Given the description of an element on the screen output the (x, y) to click on. 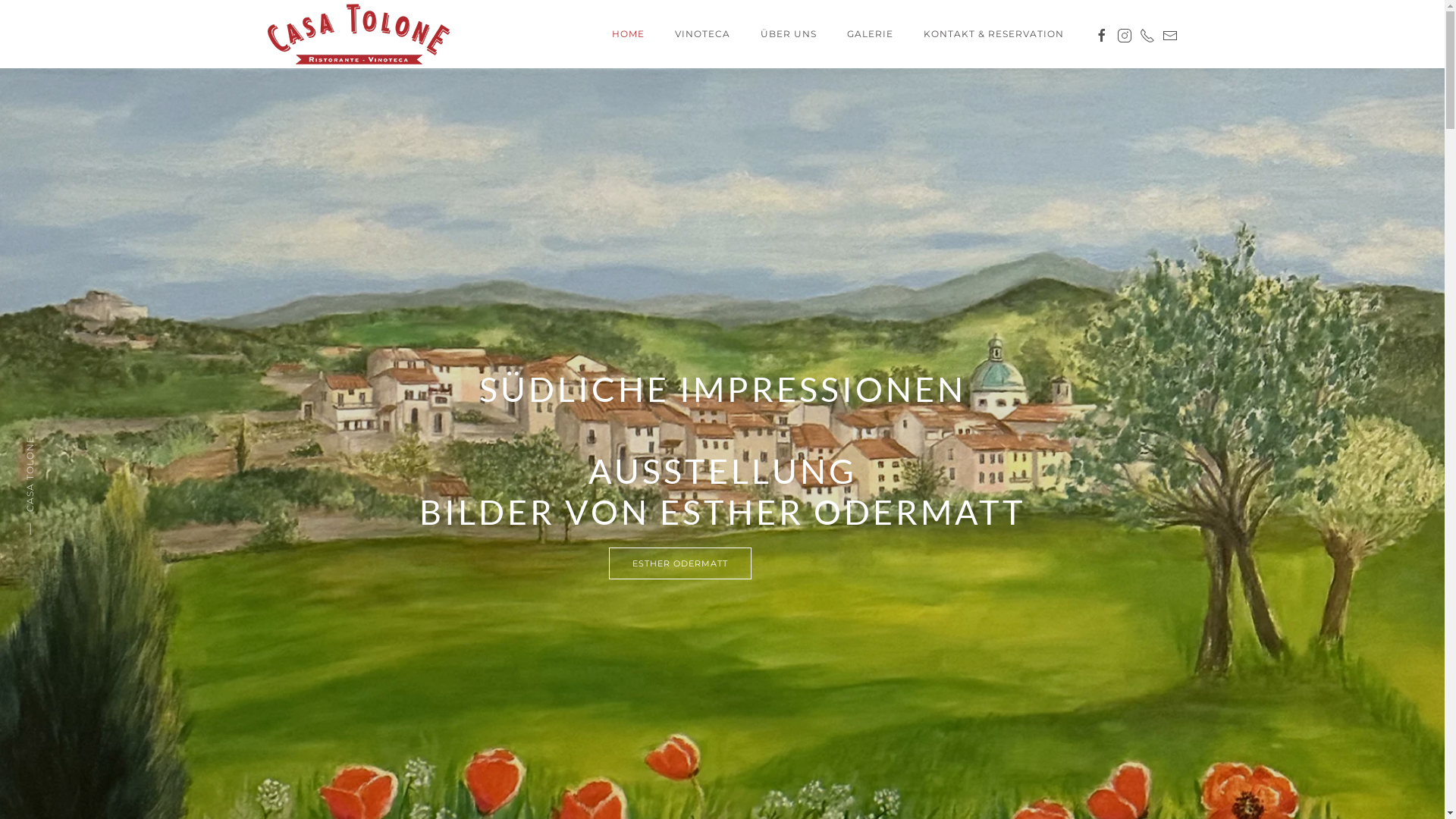
KONTAKT & RESERVATION Element type: text (993, 33)
HOME Element type: text (627, 33)
GALERIE Element type: text (869, 33)
ESTHER ODERMATT Element type: text (679, 563)
VINOTECA Element type: text (702, 33)
